Given the description of an element on the screen output the (x, y) to click on. 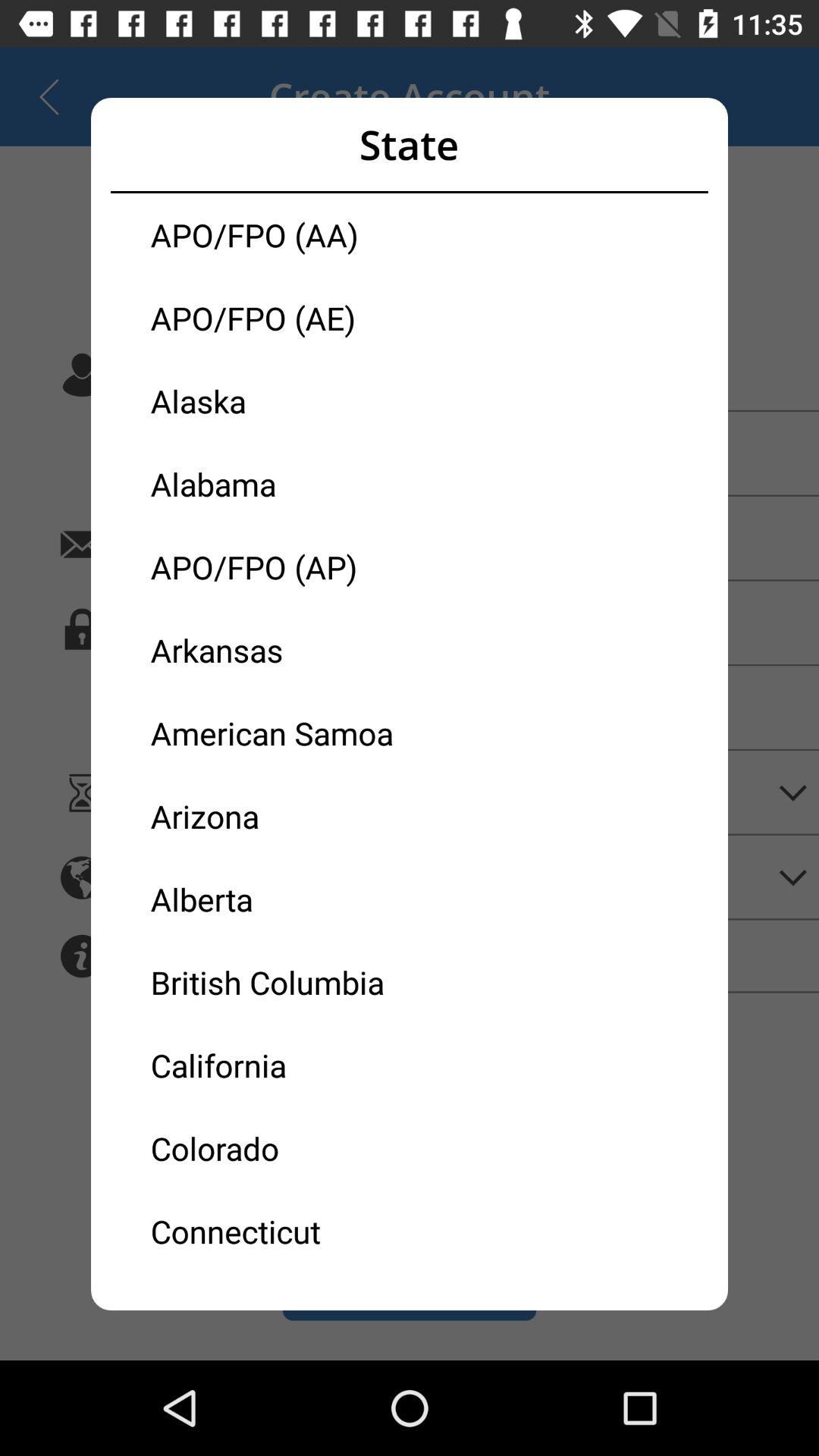
swipe to california icon (279, 1064)
